Given the description of an element on the screen output the (x, y) to click on. 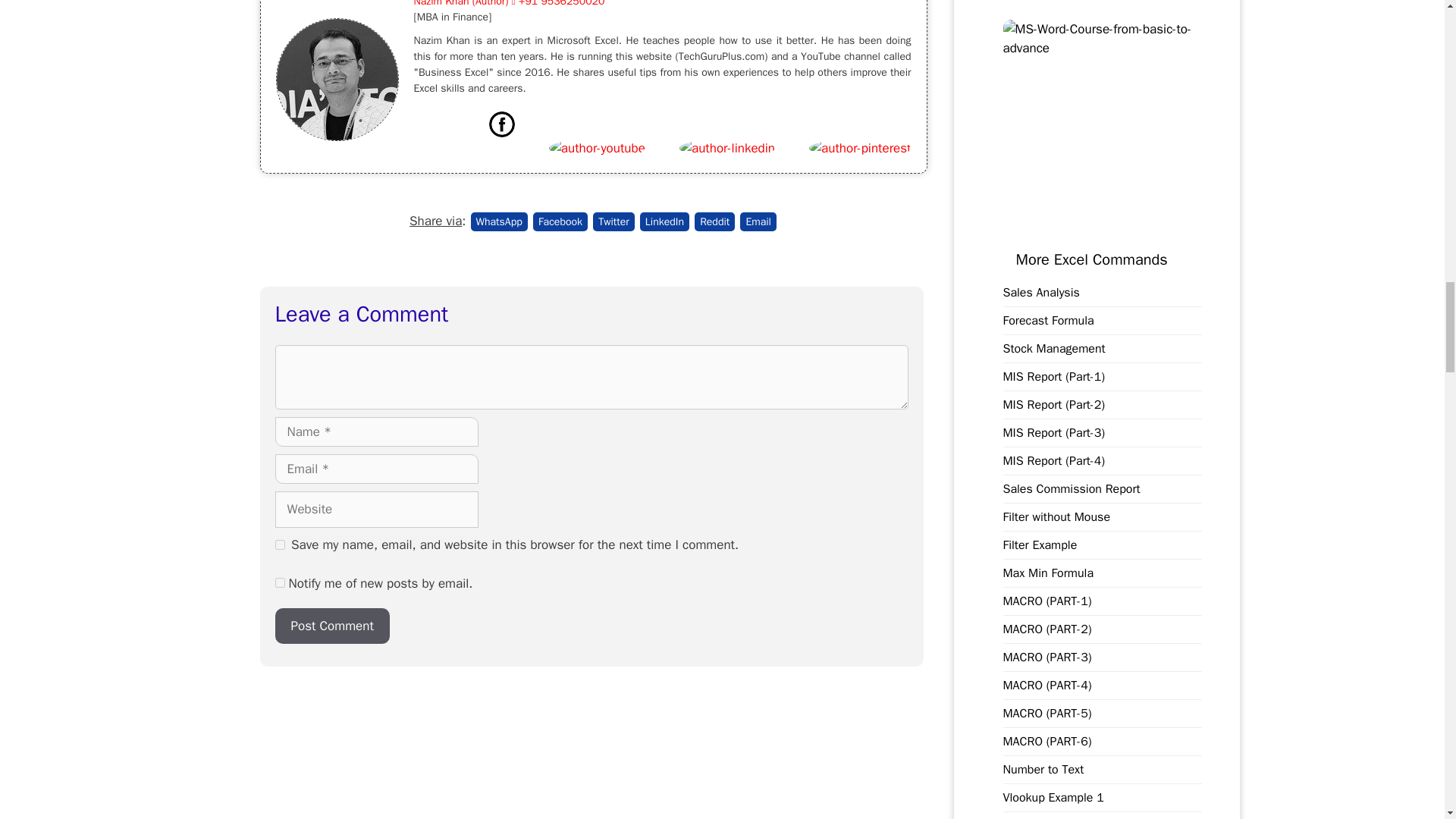
yes (279, 544)
Post Comment (331, 626)
subscribe (279, 583)
